Given the description of an element on the screen output the (x, y) to click on. 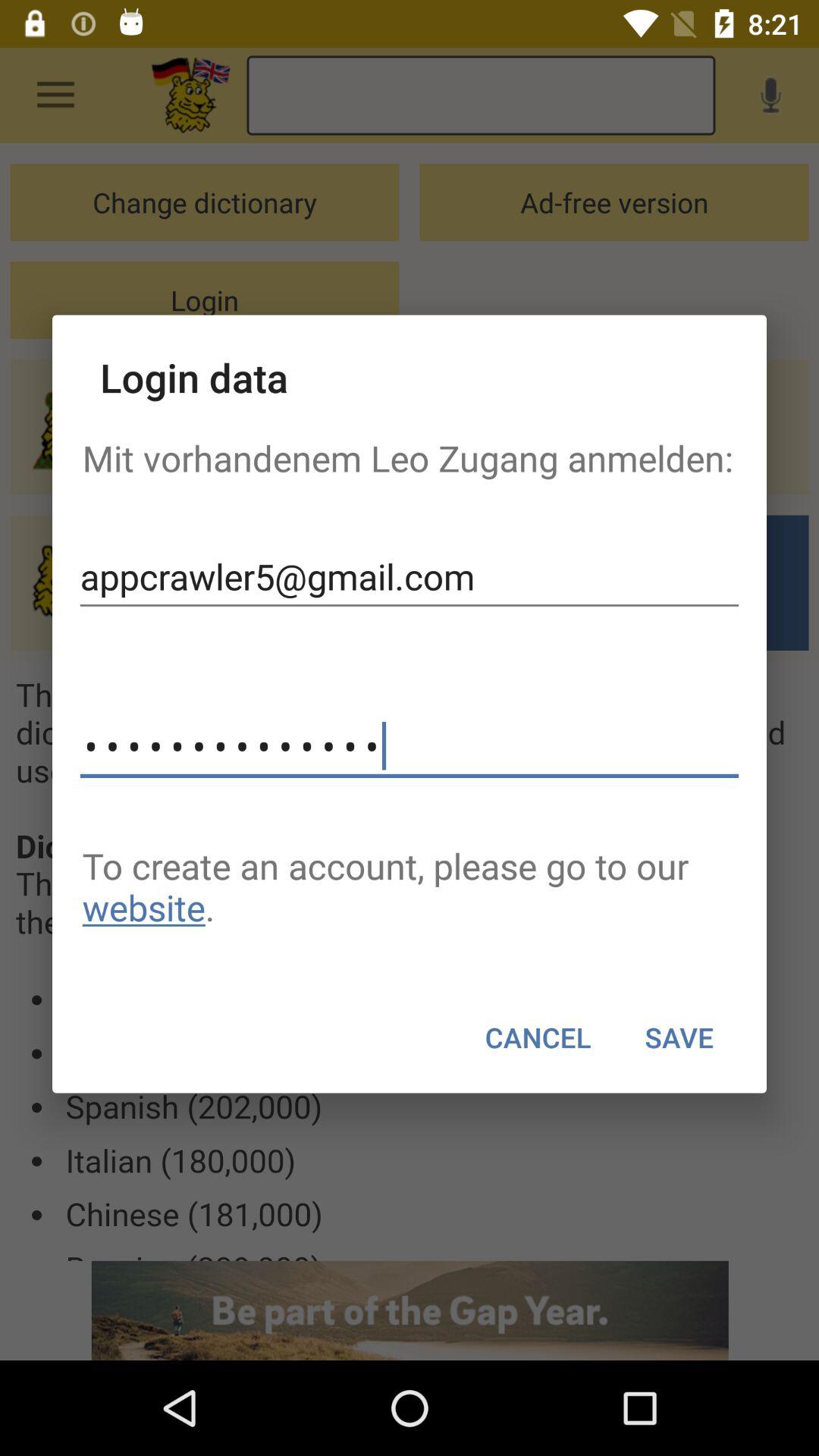
choose item to the right of cancel icon (678, 1037)
